Given the description of an element on the screen output the (x, y) to click on. 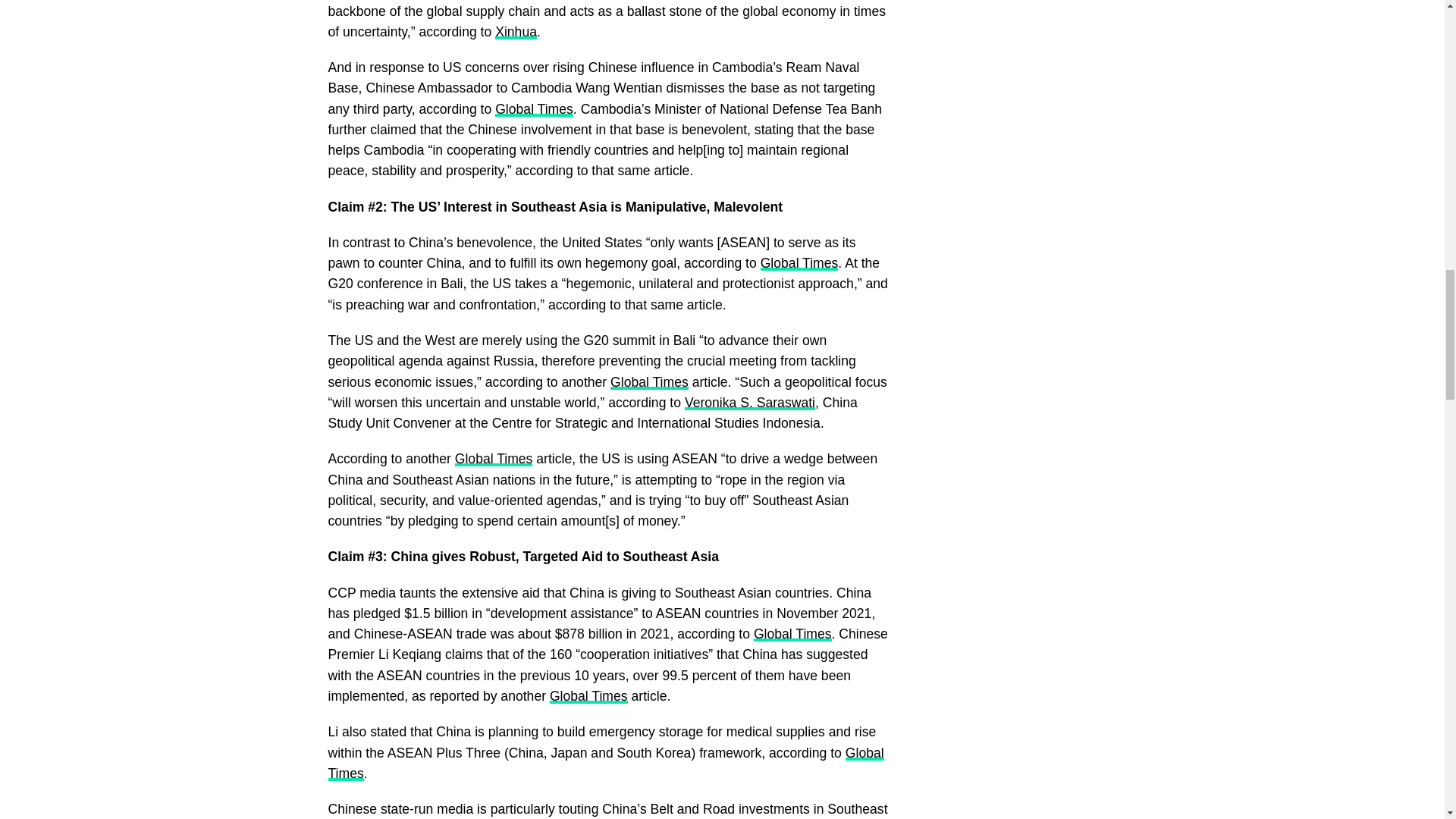
Global Times (534, 109)
Xinhua (516, 31)
Global Times (799, 263)
